Given the description of an element on the screen output the (x, y) to click on. 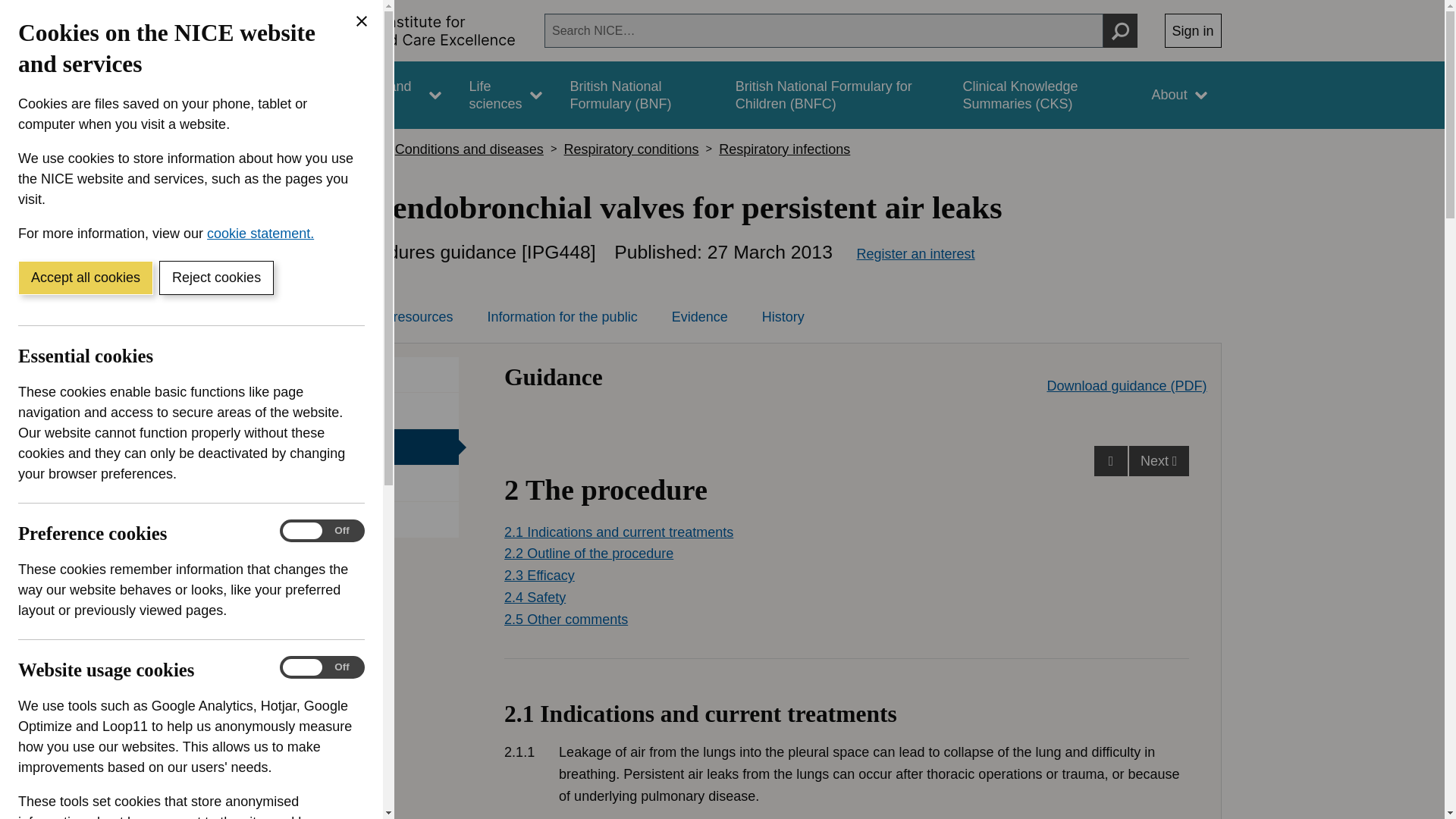
Life sciences (505, 94)
Sign in (1192, 30)
Standards and indicators (381, 94)
Reject cookies (215, 277)
2.1 Indications and current treatments (845, 738)
Accept all cookies (84, 277)
Guidance (265, 94)
2 The procedure (845, 738)
